Given the description of an element on the screen output the (x, y) to click on. 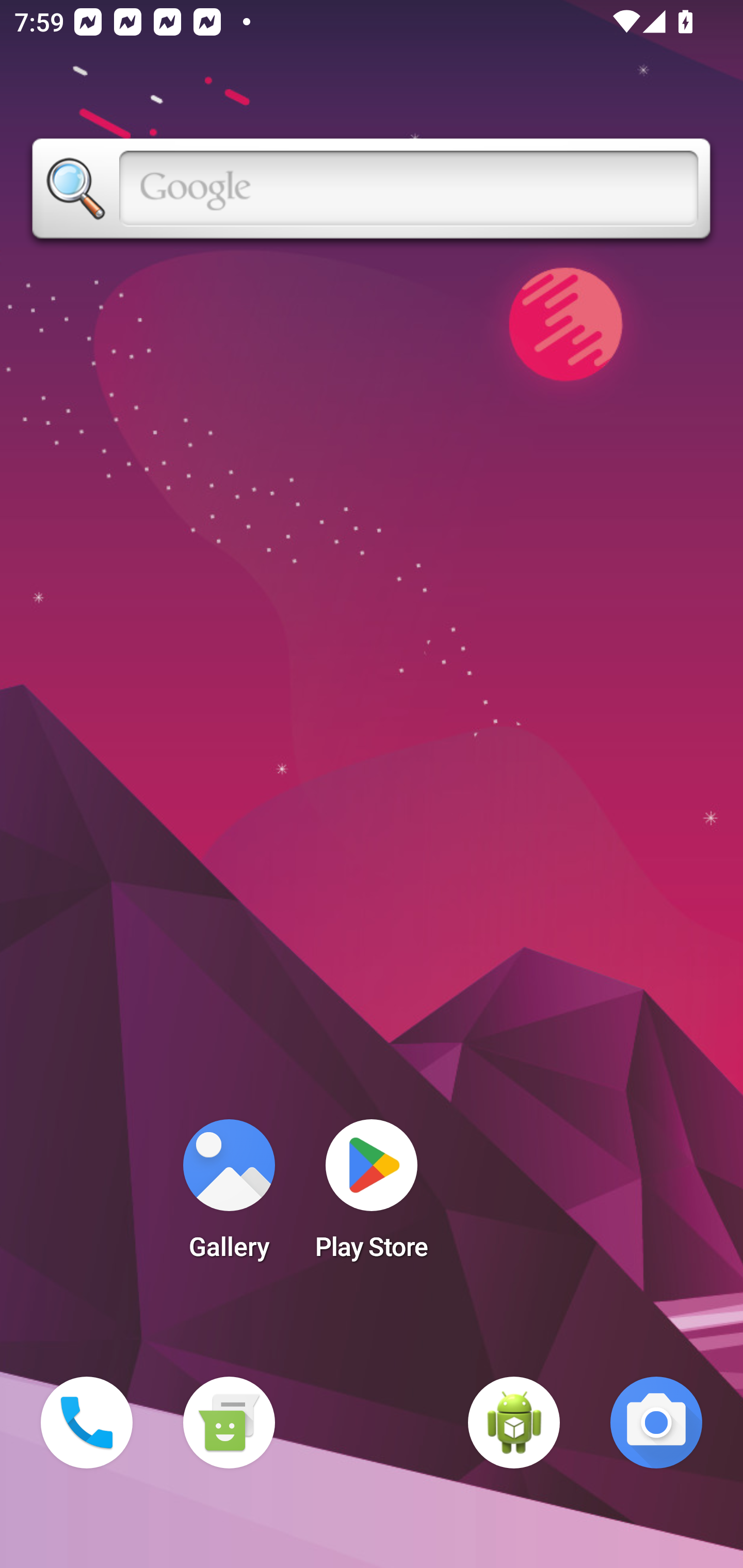
Gallery (228, 1195)
Play Store (371, 1195)
Phone (86, 1422)
Messaging (228, 1422)
WebView Browser Tester (513, 1422)
Camera (656, 1422)
